Given the description of an element on the screen output the (x, y) to click on. 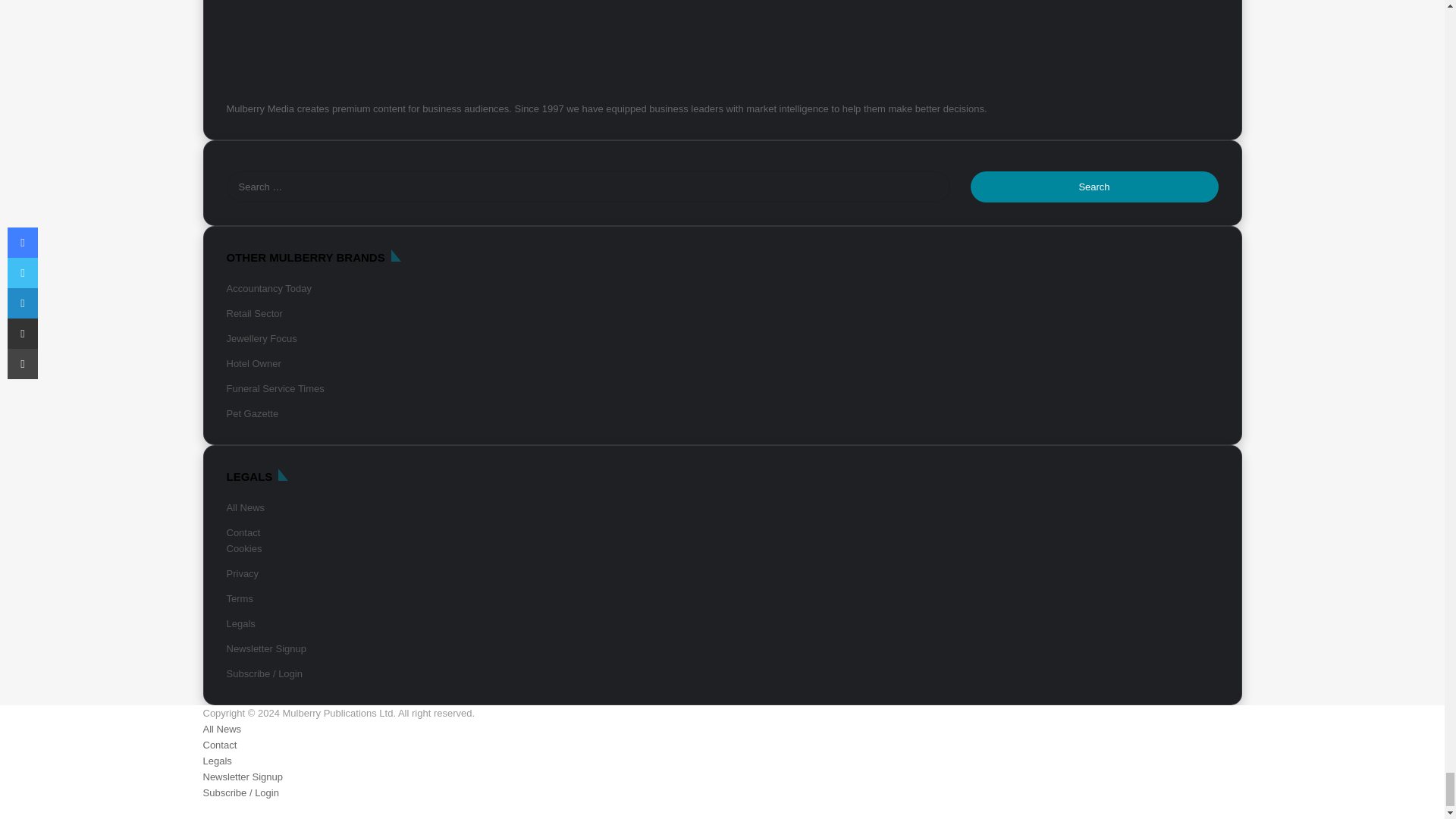
Search (1094, 186)
Search (1094, 186)
